Given the description of an element on the screen output the (x, y) to click on. 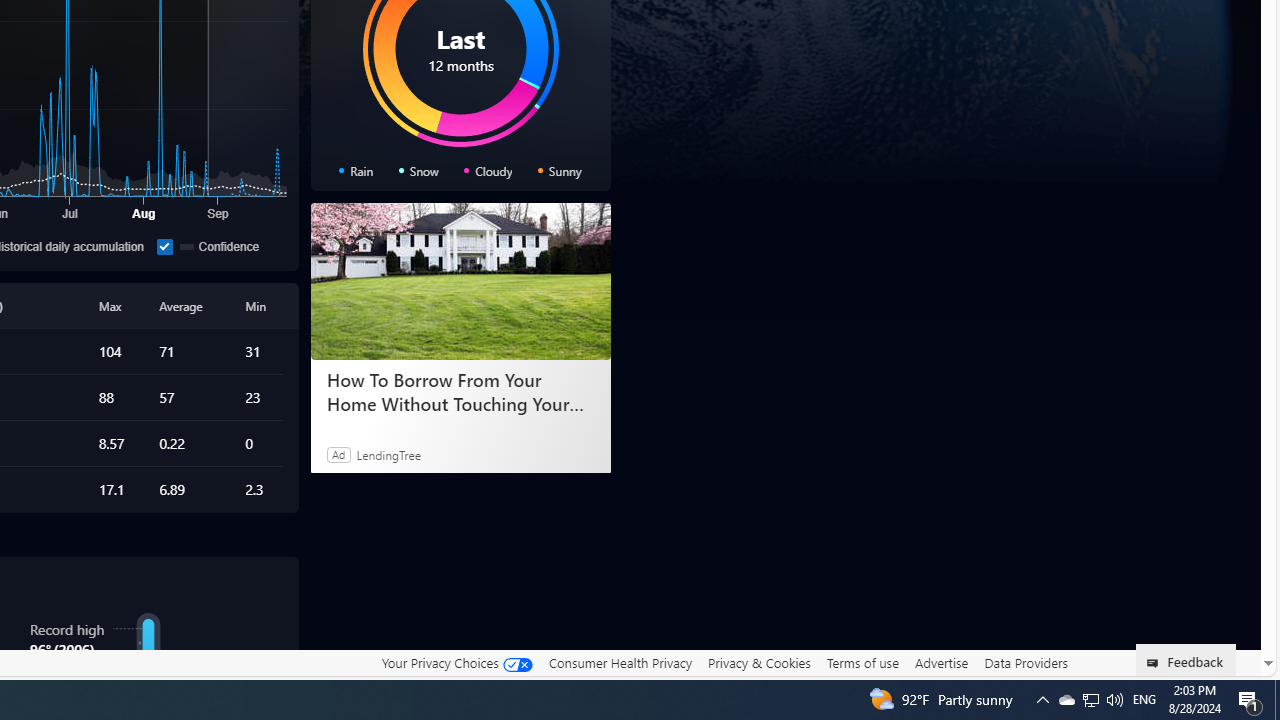
Terms of use (861, 663)
Confidence (164, 246)
Data Providers (1025, 663)
Consumer Health Privacy (619, 663)
Data Providers (1025, 662)
Discover the Most Luxurious Homes in Dubai (460, 391)
Privacy & Cookies (759, 663)
LendingTree (388, 453)
How To Borrow From Your Home Without Touching Your Mortgage (459, 281)
Class: feedback_link_icon-DS-EntryPoint1-1 (1156, 663)
Your Privacy Choices (456, 662)
Consumer Health Privacy (619, 662)
